Given the description of an element on the screen output the (x, y) to click on. 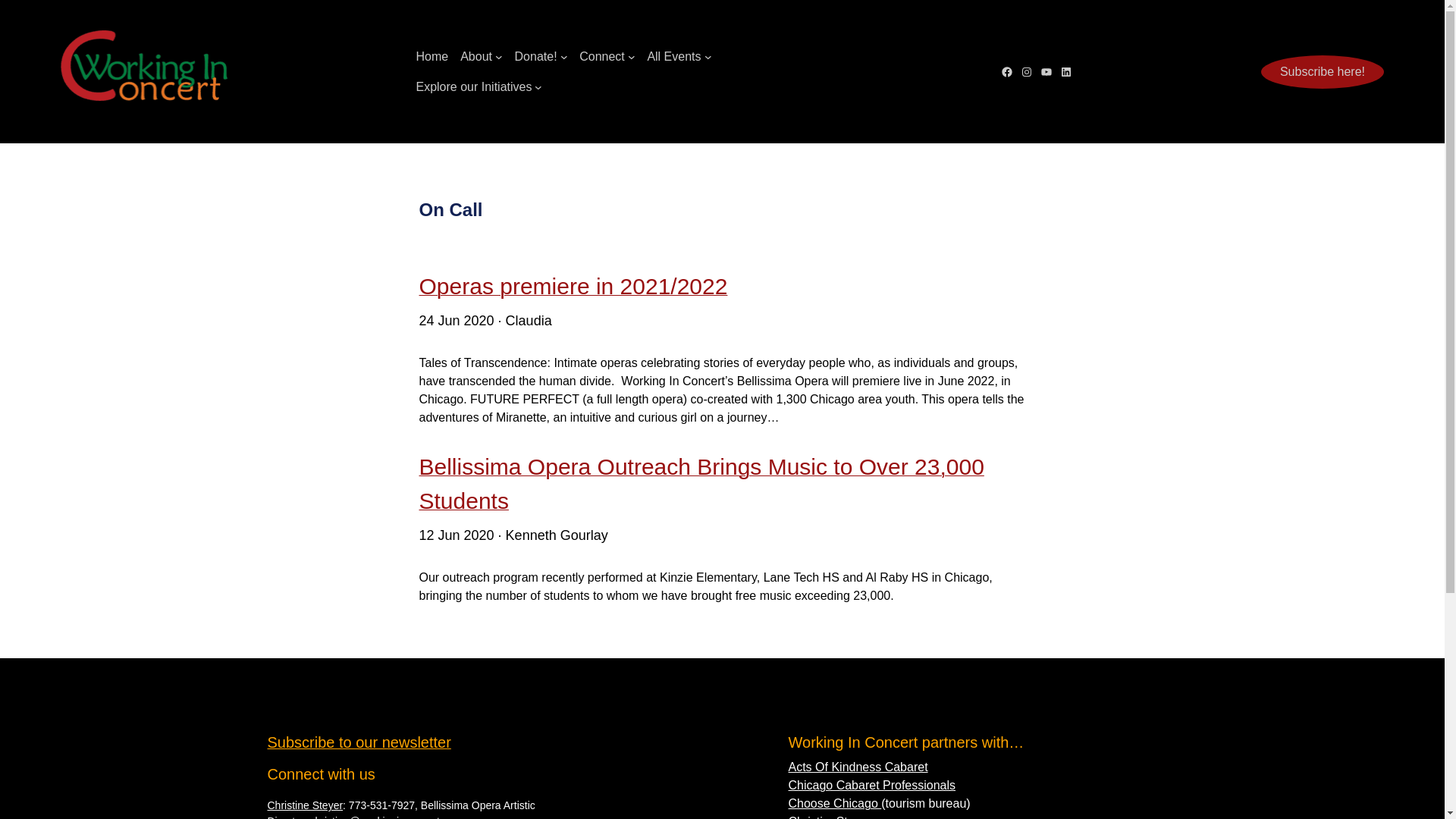
YouTube (1046, 71)
About (476, 56)
Home (431, 56)
LinkedIn (1065, 71)
All Events (673, 56)
Instagram (1026, 71)
Donate! (536, 56)
Subscribe here! (1322, 71)
Explore our Initiatives (472, 86)
Facebook (1007, 71)
Connect (601, 56)
